Given the description of an element on the screen output the (x, y) to click on. 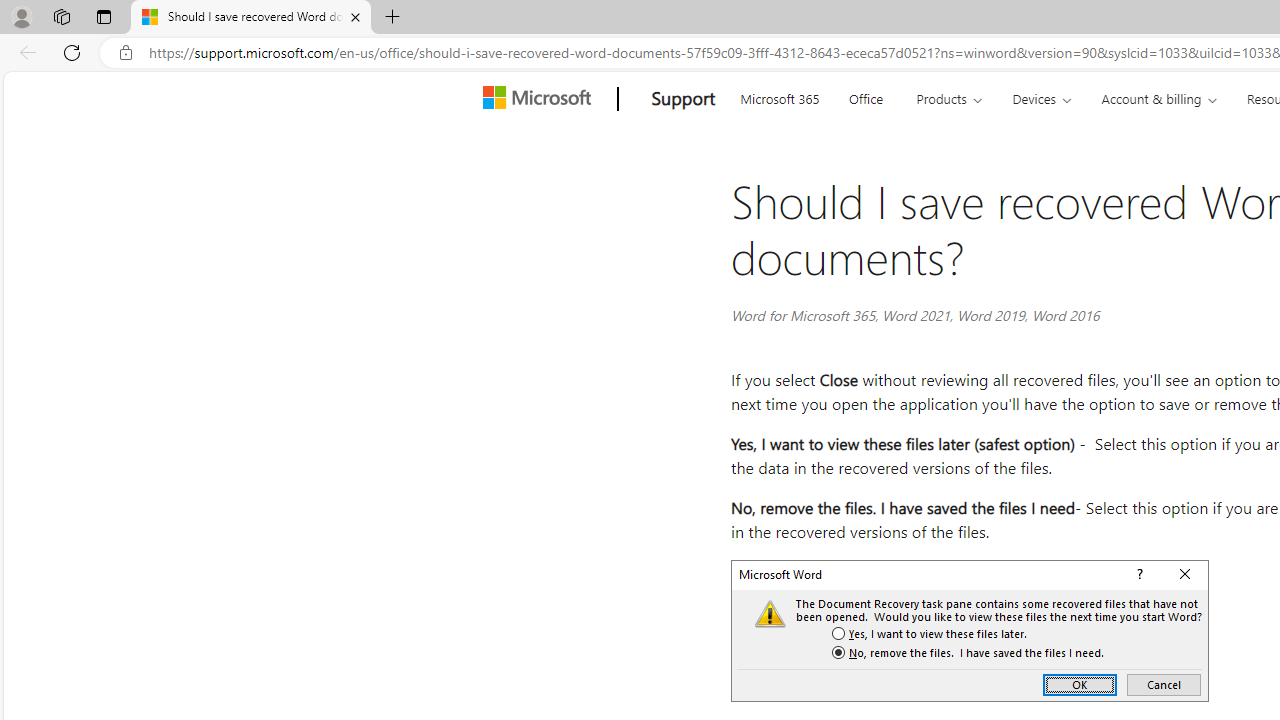
View site information (125, 53)
Microsoft (541, 99)
Support (683, 99)
New Tab (392, 17)
Close tab (354, 16)
Office (865, 96)
